Given the description of an element on the screen output the (x, y) to click on. 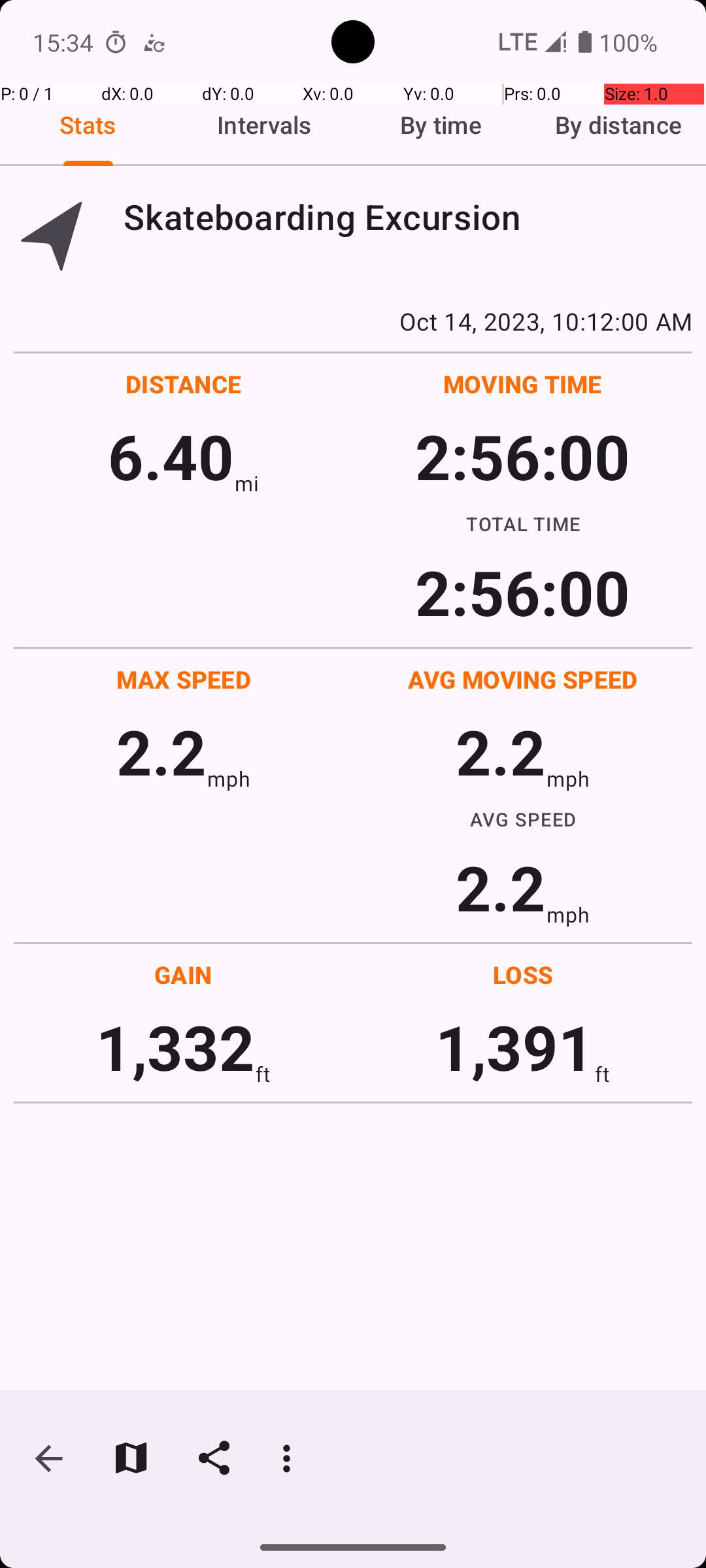
Skateboarding Excursion Element type: android.widget.TextView (407, 216)
Oct 14, 2023, 10:12:00 AM Element type: android.widget.TextView (352, 320)
6.40 Element type: android.widget.TextView (170, 455)
2:56:00 Element type: android.widget.TextView (522, 455)
2.2 Element type: android.widget.TextView (161, 750)
1,332 Element type: android.widget.TextView (175, 1045)
1,391 Element type: android.widget.TextView (514, 1045)
